Given the description of an element on the screen output the (x, y) to click on. 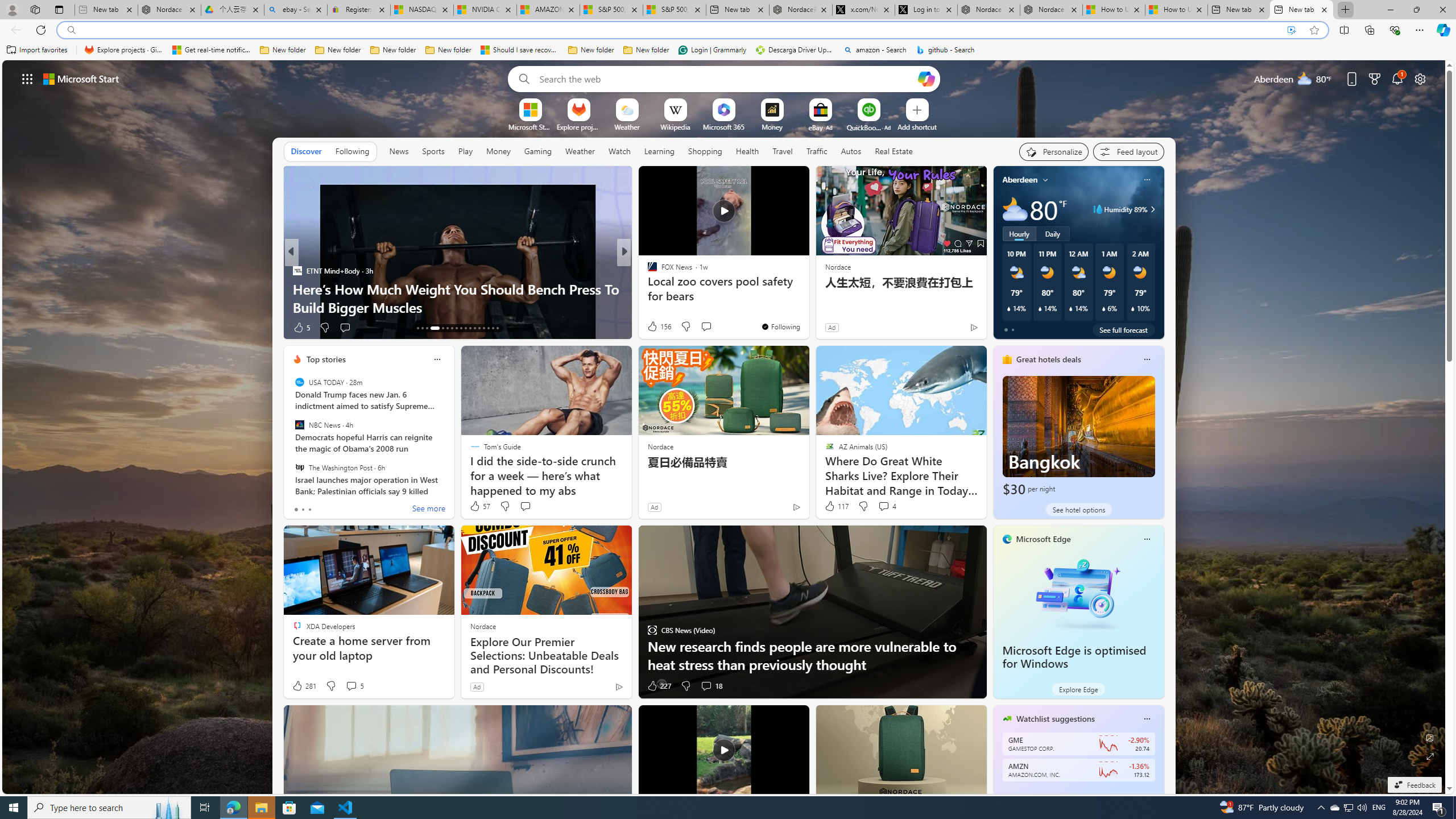
3 ways to record a phone call on an iPhone (807, 307)
Weather (580, 151)
Weather (579, 151)
Expand background (1430, 756)
You're following FOX News (780, 326)
57 Like (479, 505)
View comments 4 Comment (883, 505)
See full forecast (1123, 329)
AutomationID: tab-16 (435, 328)
